Given the description of an element on the screen output the (x, y) to click on. 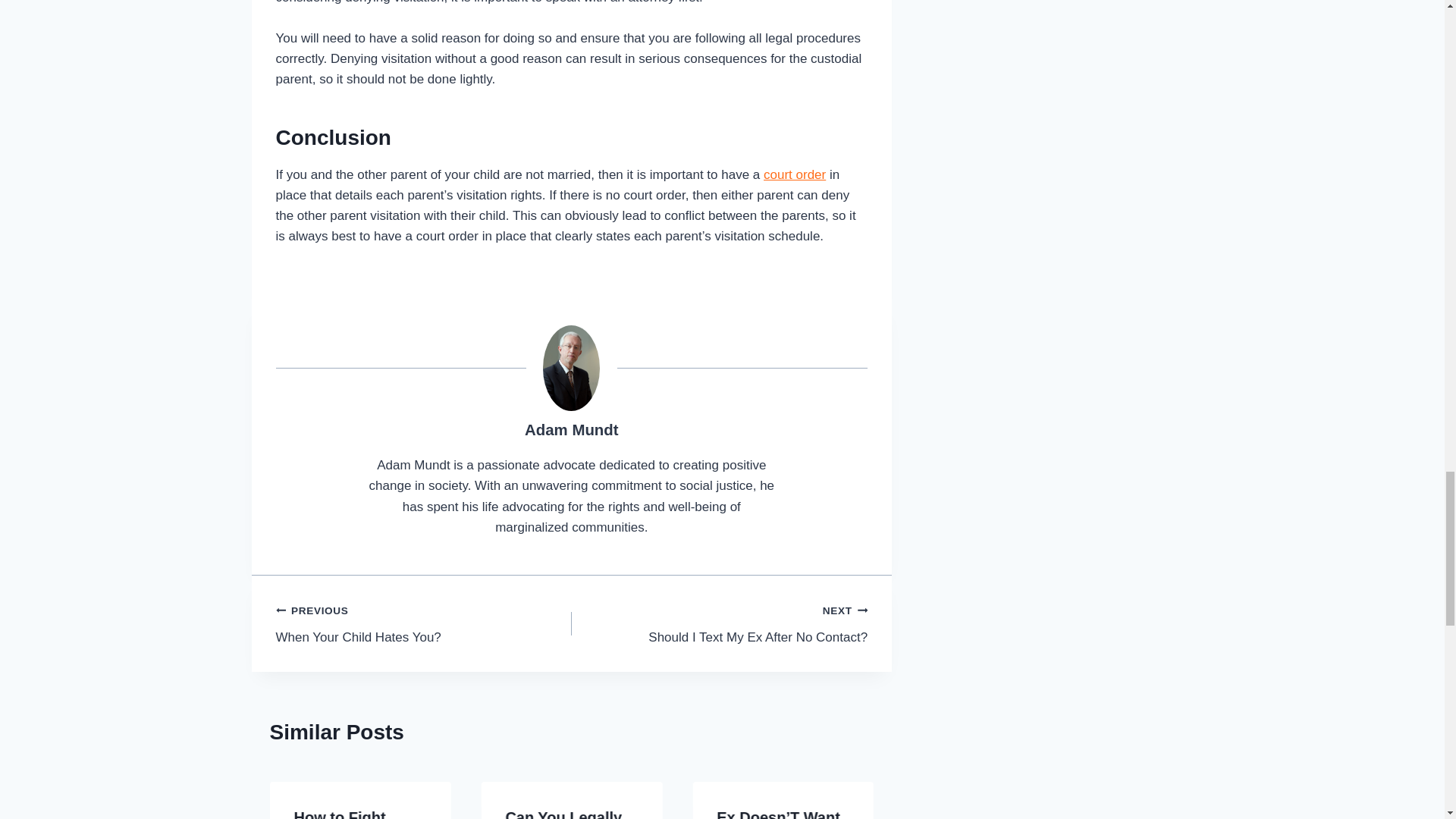
Adam Mundt (424, 623)
Posts by Adam Mundt (570, 429)
court order (719, 623)
